Given the description of an element on the screen output the (x, y) to click on. 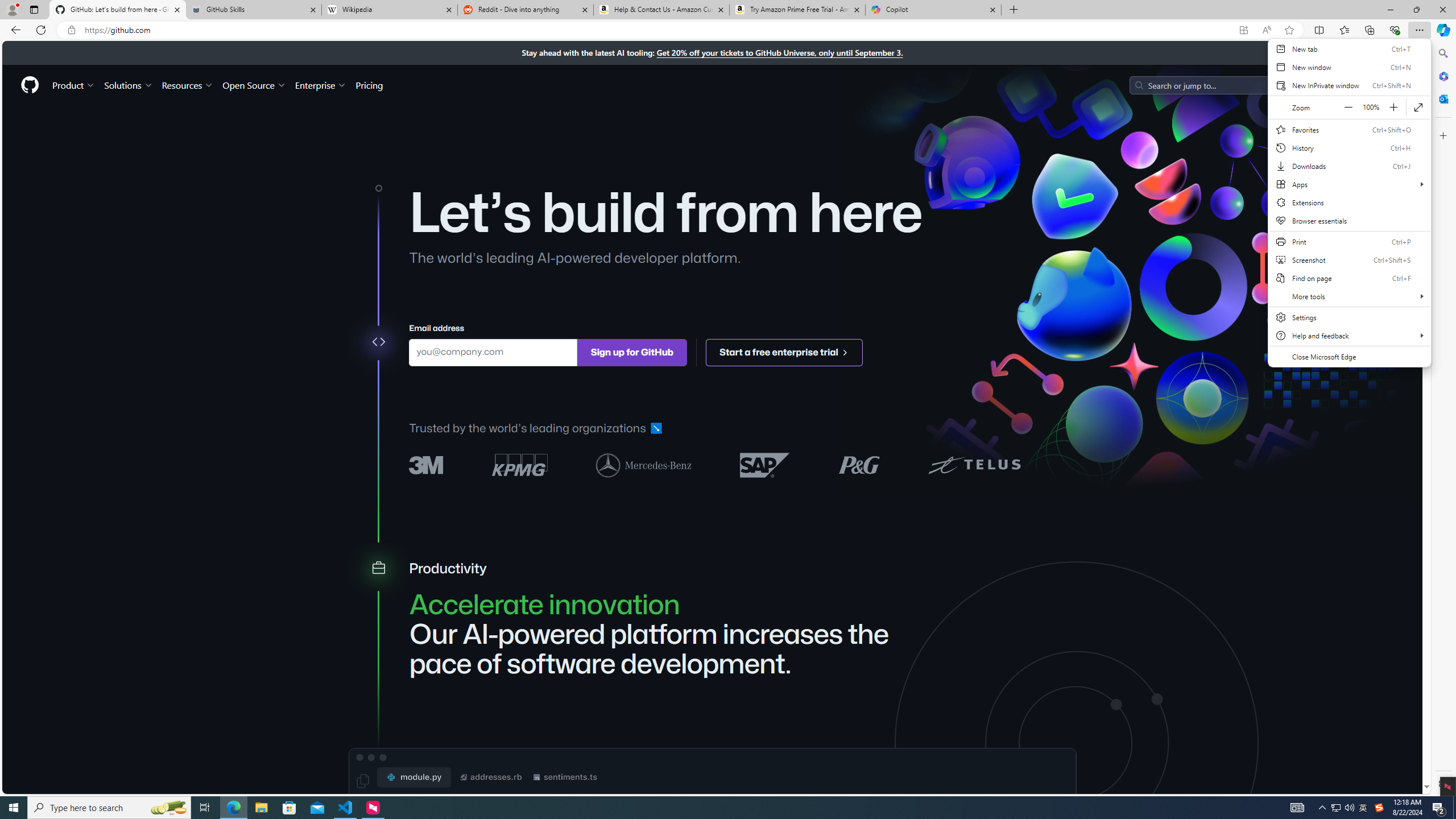
Try Amazon Prime Free Trial - Amazon Customer Service (797, 9)
New InPrivate window (1349, 85)
Sign up for GitHub (631, 352)
Start a free enterprise trial  (784, 352)
Product (74, 84)
Resources (187, 84)
Pricing (368, 84)
Solutions (128, 84)
Enterprise (319, 84)
